Given the description of an element on the screen output the (x, y) to click on. 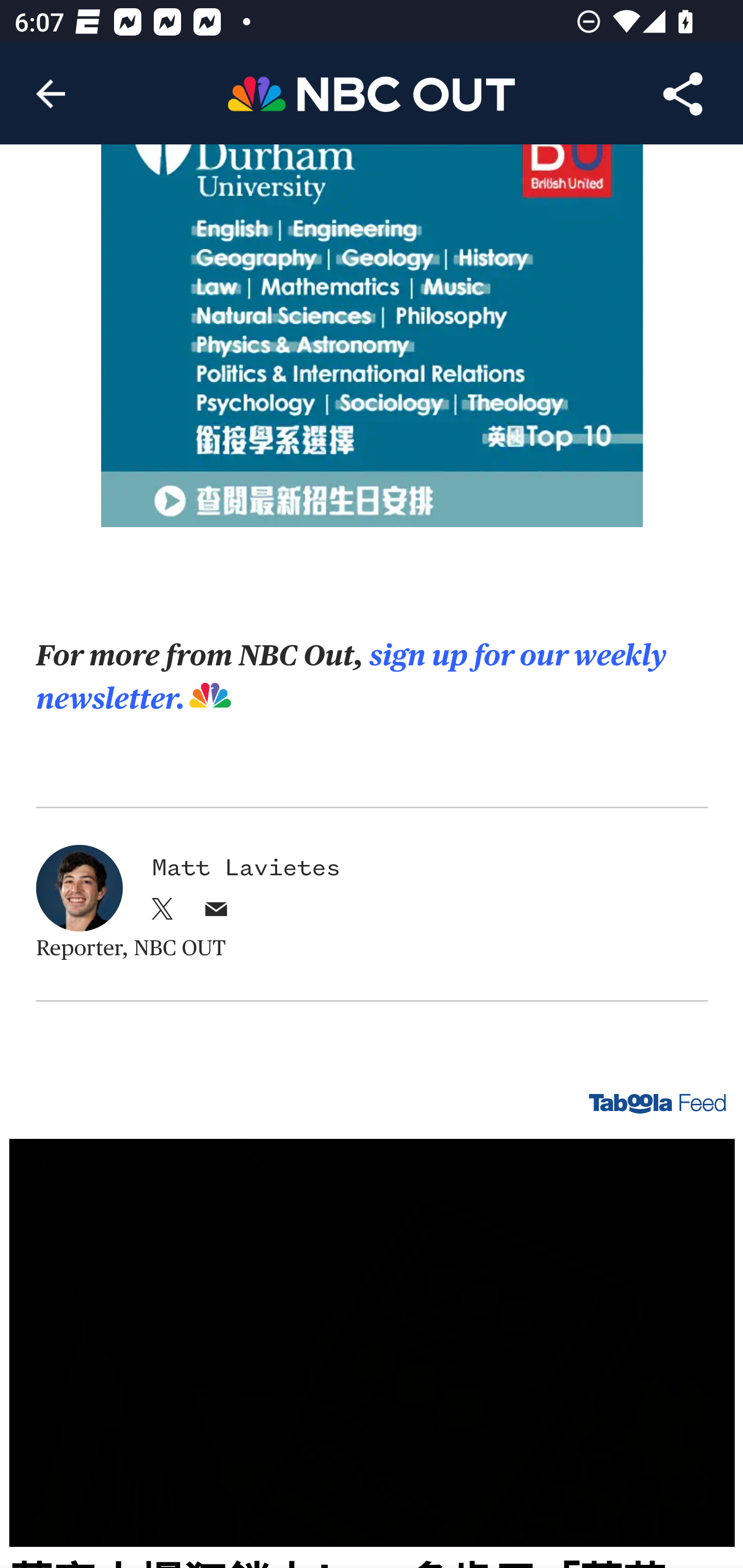
Navigate up (50, 93)
Share Article, button (683, 94)
Header, NBC Out (371, 93)
sign up for our weekly newsletter. (351, 678)
matt-lavietes-ncpn1280564 (79, 888)
Matt Lavietes (246, 868)
 (162, 914)
 (215, 914)
